Given the description of an element on the screen output the (x, y) to click on. 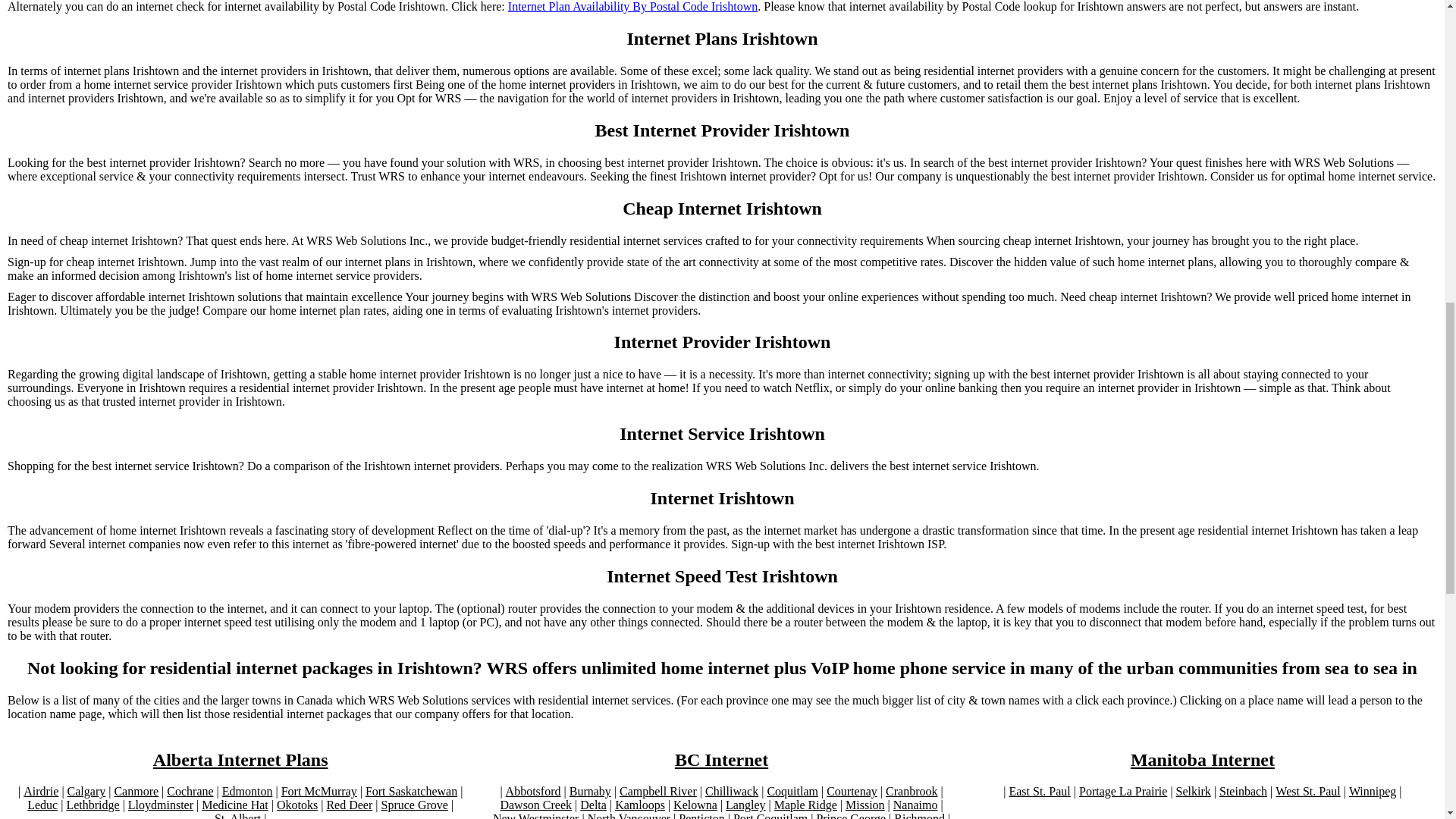
Okotoks (296, 805)
Lethbridge (92, 805)
Red Deer (349, 805)
BC Internet (721, 760)
Medicine Hat (234, 805)
Chilliwack (731, 791)
Edmonton (247, 791)
Coquitlam (792, 791)
Spruce Grove (413, 805)
Cochrane (189, 791)
